Given the description of an element on the screen output the (x, y) to click on. 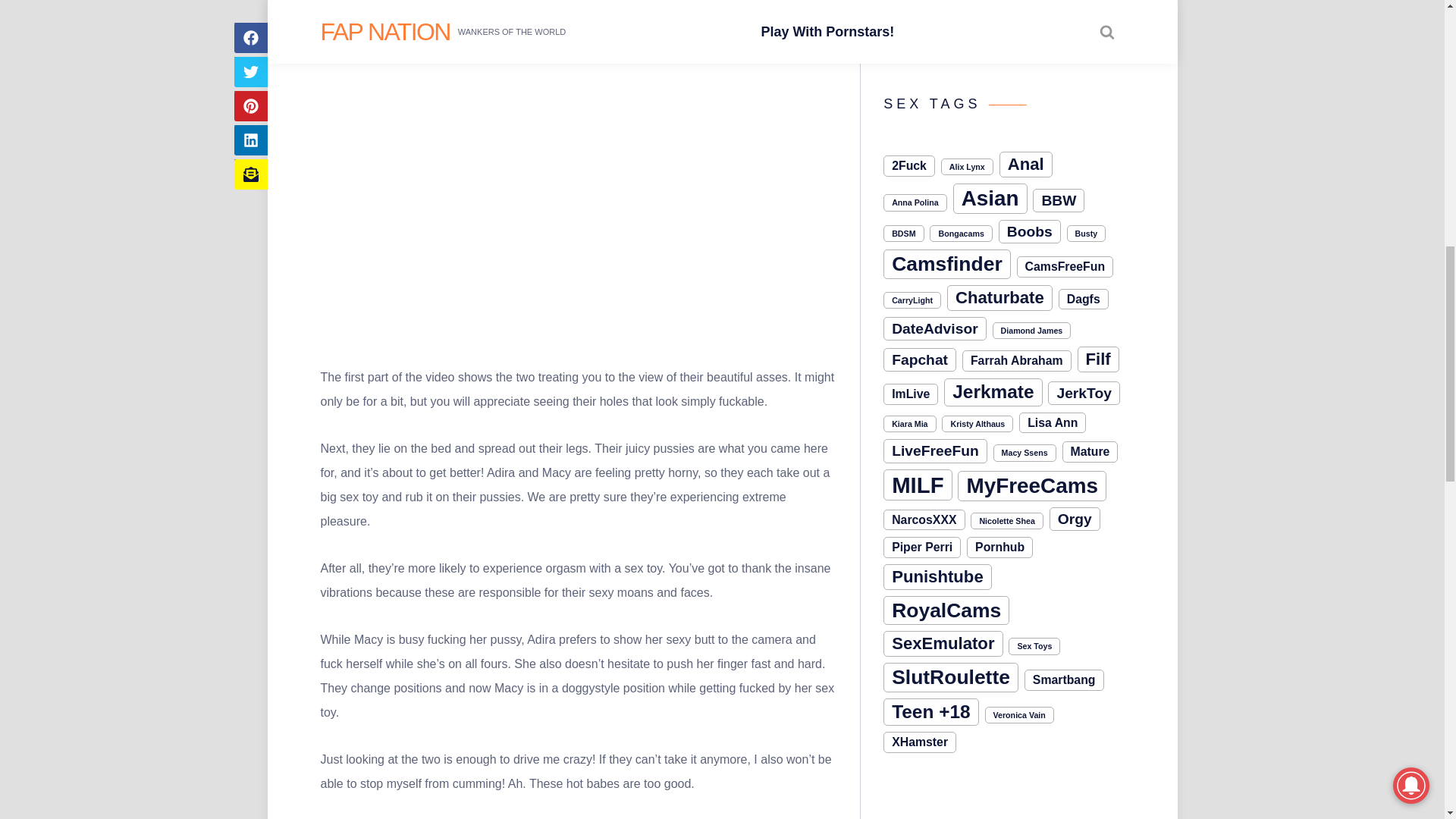
Video3 (907, 5)
2Fuck (908, 165)
